Given the description of an element on the screen output the (x, y) to click on. 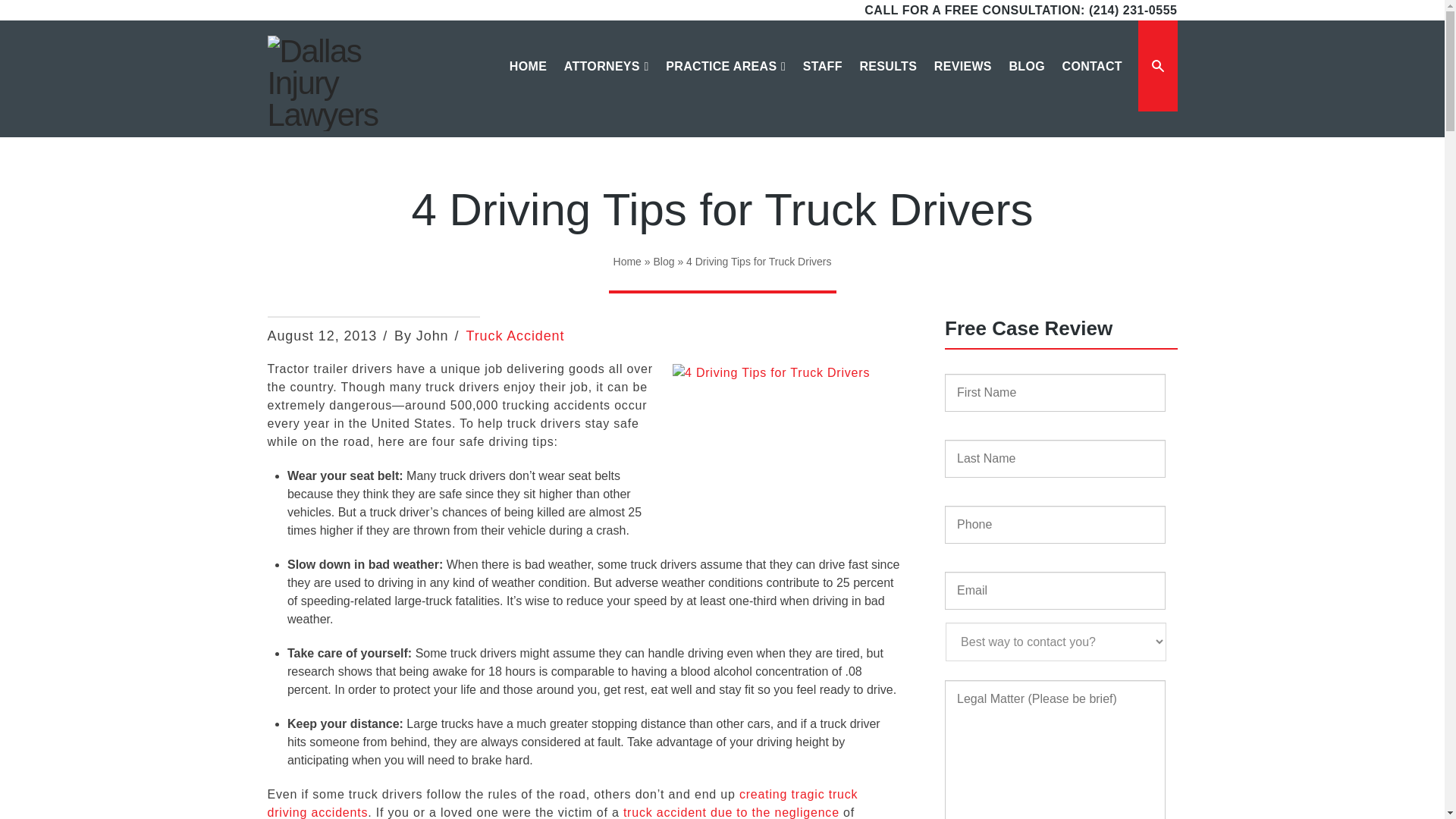
HOME (527, 81)
Search (1096, 65)
Dallas Injury Lawyers (339, 83)
BLOG (1025, 81)
RESULTS (887, 81)
REVIEWS (962, 81)
STAFF (821, 81)
ATTORNEYS (605, 81)
CONTACT (1091, 81)
PRACTICE AREAS (724, 81)
